Given the description of an element on the screen output the (x, y) to click on. 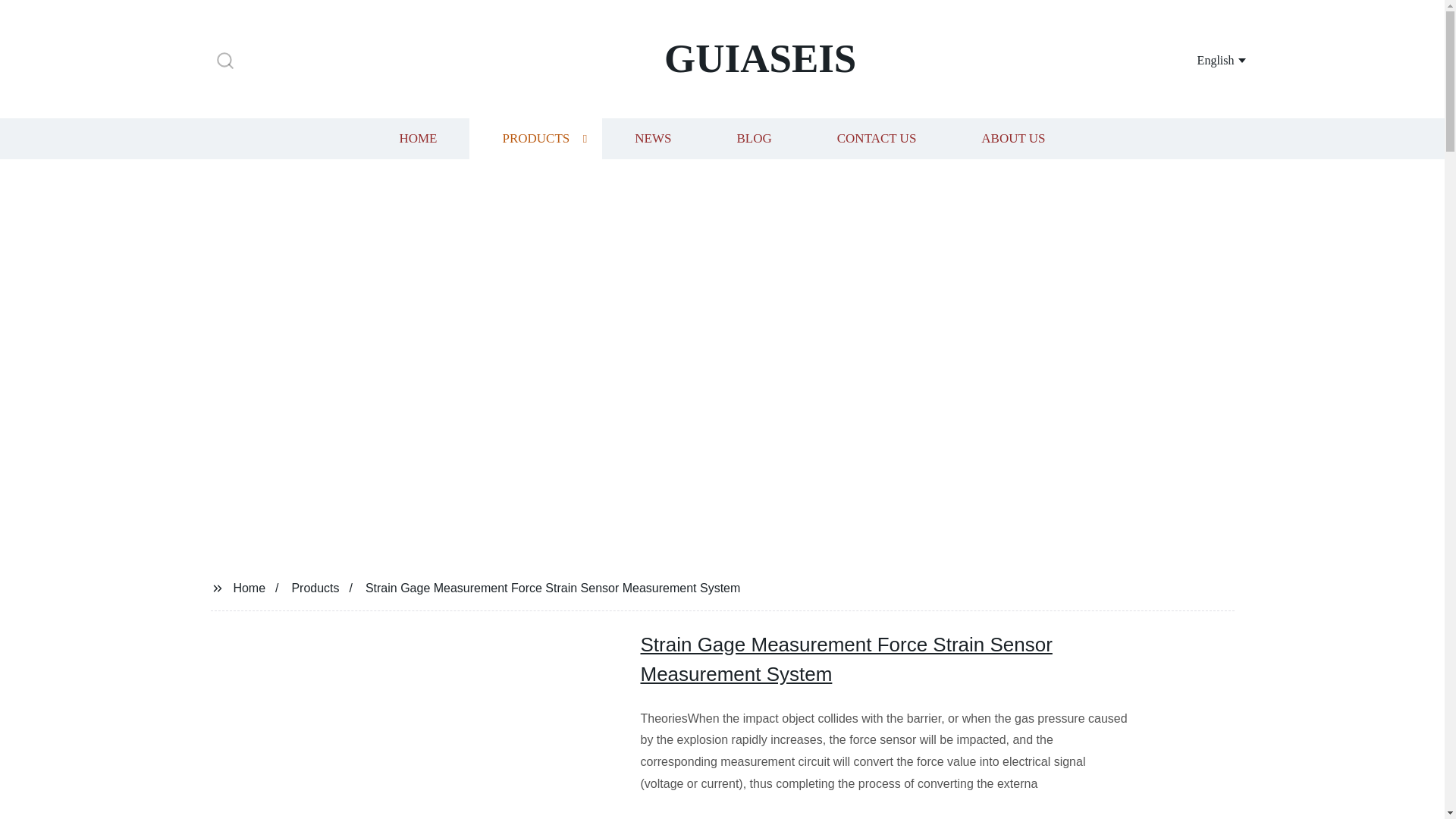
NEWS (652, 137)
English (1203, 59)
English (1203, 59)
HOME (417, 137)
BLOG (753, 137)
ABOUT US (1013, 137)
CONTACT US (877, 137)
Products (315, 586)
PRODUCTS (535, 137)
Home (248, 586)
